Given the description of an element on the screen output the (x, y) to click on. 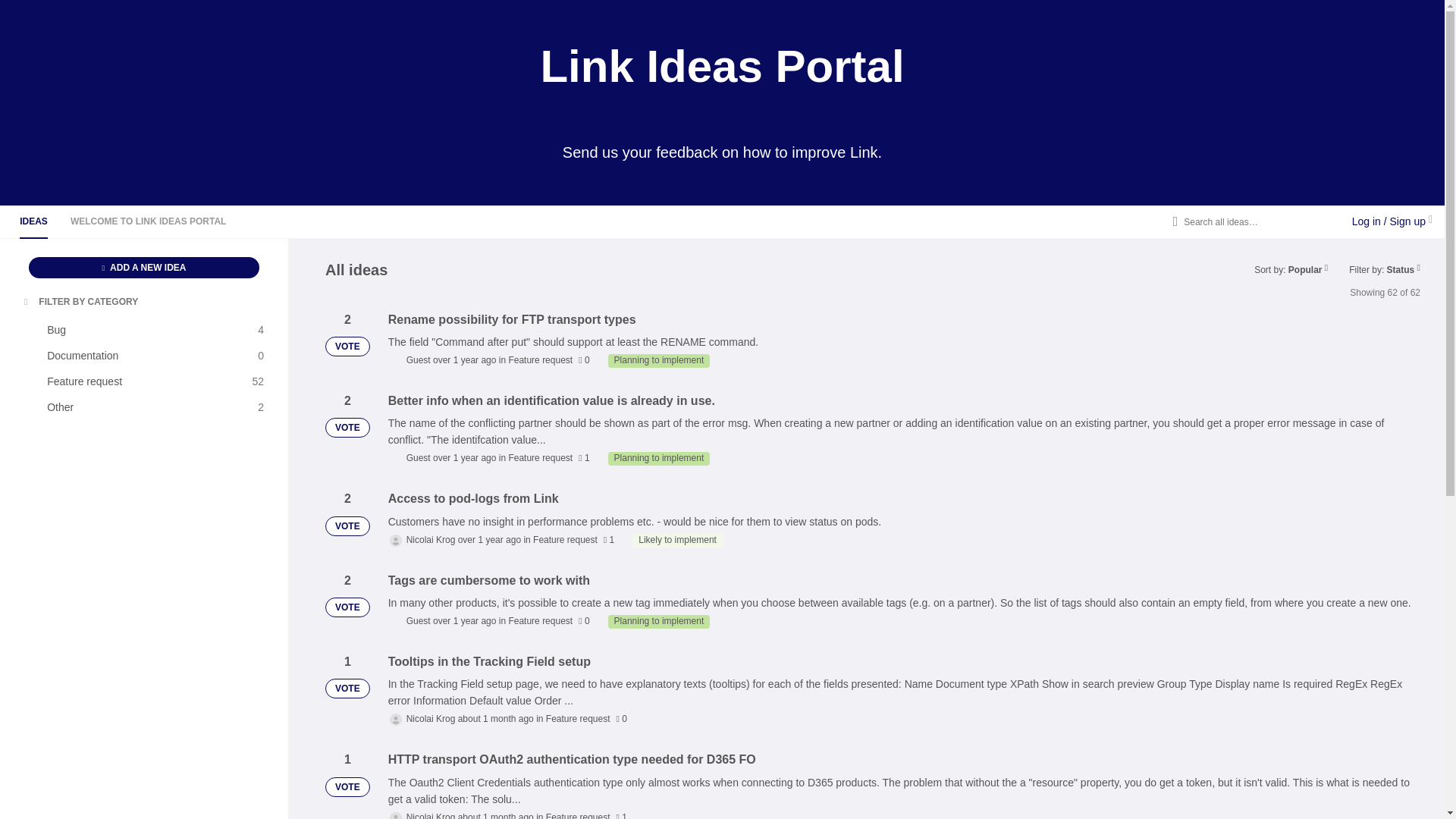
Likely to implement (150, 355)
ADD A NEW IDEA (676, 540)
Feature request (144, 267)
Feature request (540, 457)
IDEAS (150, 406)
Feature request (150, 381)
Planning to implement (578, 718)
Planning to implement (34, 221)
Planning to implement (540, 359)
Feature request (659, 621)
VOTE (659, 459)
